Given the description of an element on the screen output the (x, y) to click on. 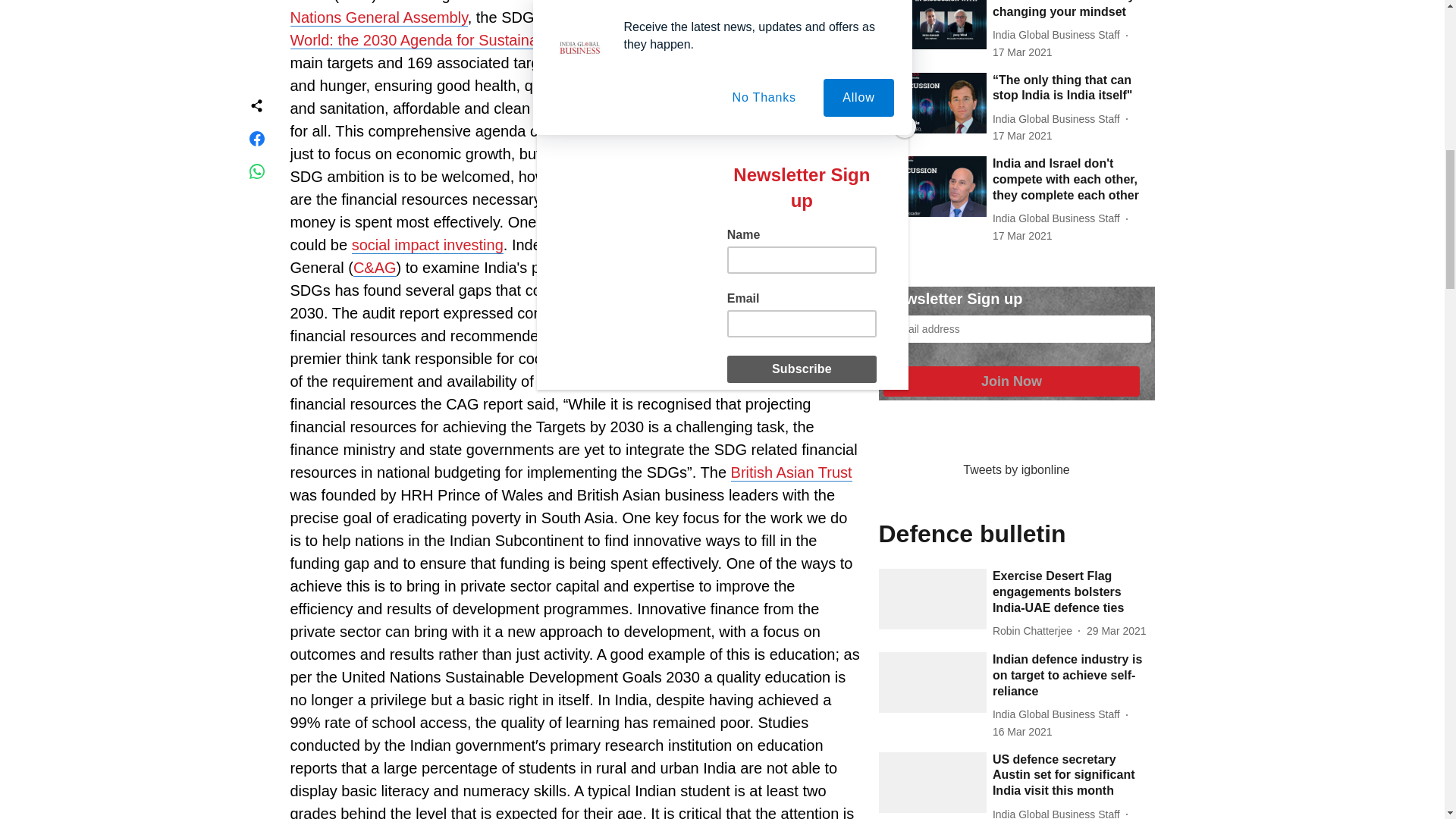
2021-03-16 20:00 (1022, 236)
2021-03-16 20:18 (1022, 52)
2021-03-29 11:08 (1116, 631)
2021-03-16 12:55 (1022, 731)
2021-03-16 20:10 (1022, 135)
Join Now (1011, 381)
